Given the description of an element on the screen output the (x, y) to click on. 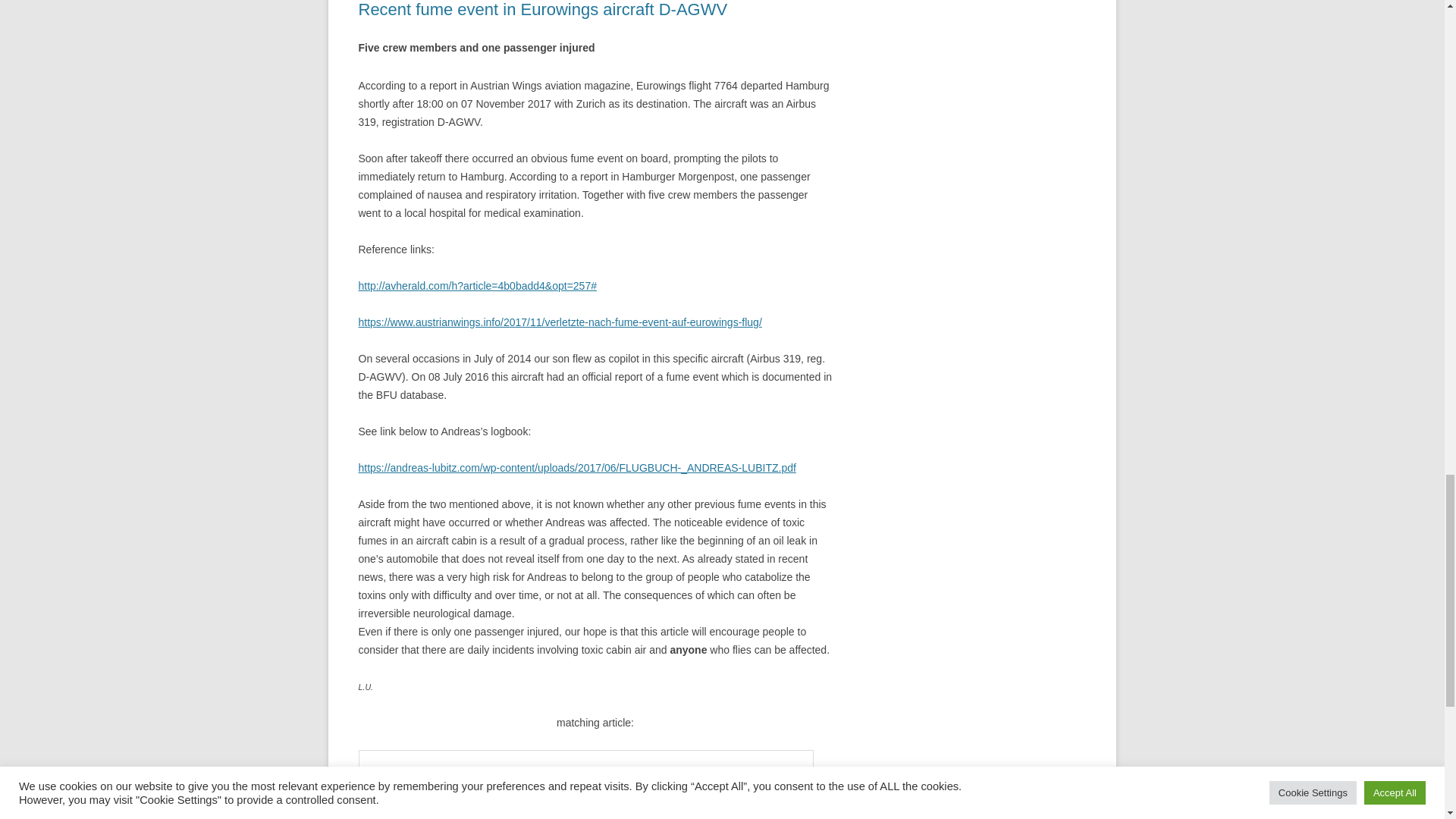
Recent fume event in Eurowings aircraft D-AGWV (542, 9)
